Given the description of an element on the screen output the (x, y) to click on. 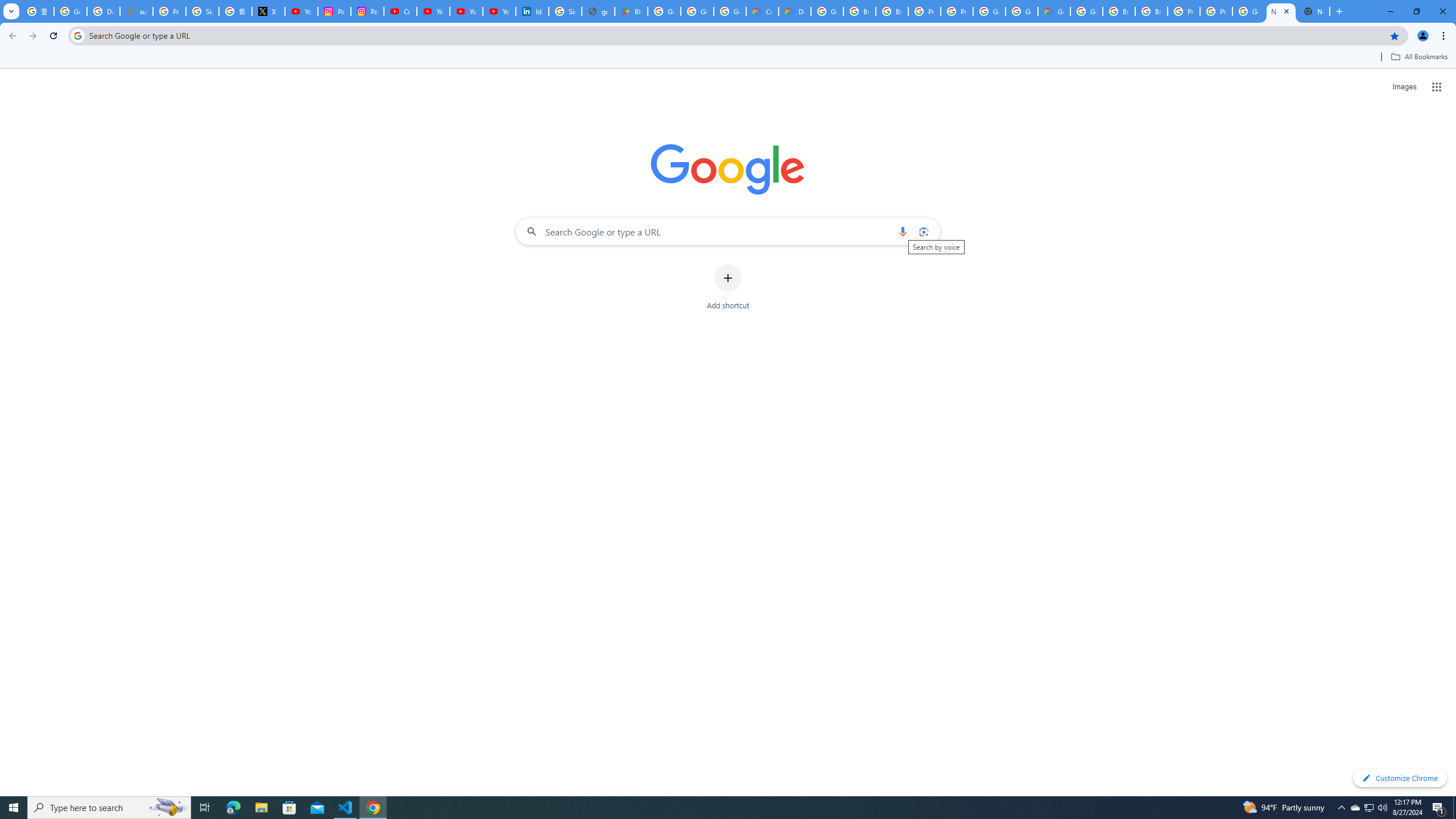
Sign in - Google Accounts (202, 11)
YouTube Content Monetization Policies - How YouTube Works (301, 11)
Browse Chrome as a guest - Computer - Google Chrome Help (1150, 11)
New Tab (1313, 11)
Identity verification via Persona | LinkedIn Help (532, 11)
Browse Chrome as a guest - Computer - Google Chrome Help (1118, 11)
All Bookmarks (1418, 56)
